Given the description of an element on the screen output the (x, y) to click on. 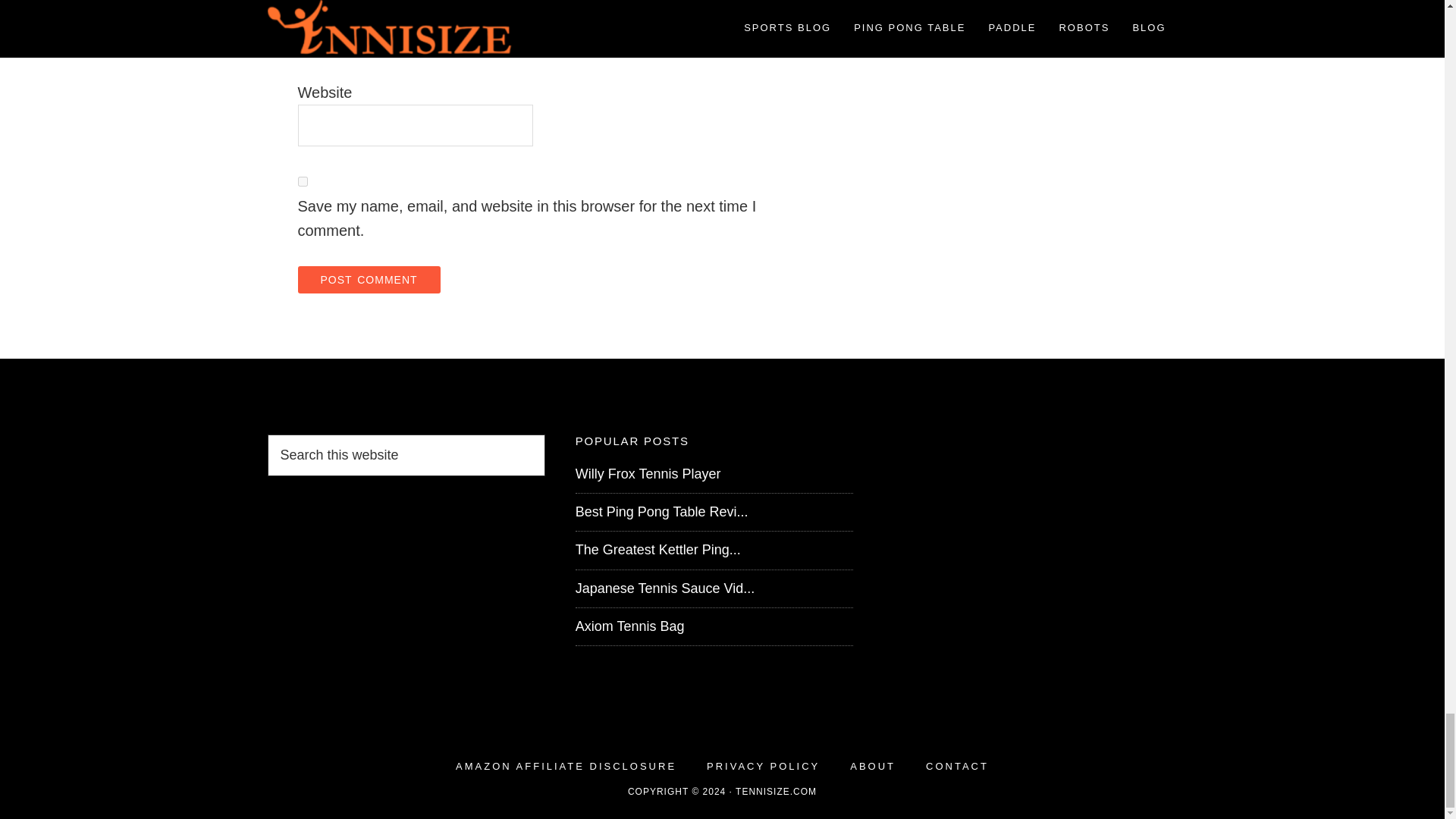
Japanese Tennis Sauce Video (665, 588)
AMAZON AFFILIATE DISCLOSURE (566, 766)
Post Comment (368, 279)
Japanese Tennis Sauce Vid... (665, 588)
ABOUT (872, 766)
Axiom Tennis Bag (629, 626)
PRIVACY POLICY (762, 766)
yes (302, 181)
The Greatest Kettler Ping Pong Table Reviews and Buyer Guide (658, 549)
CONTACT (957, 766)
Best Ping Pong Table Revi... (661, 511)
Willy Frox Tennis Player (647, 473)
